Given the description of an element on the screen output the (x, y) to click on. 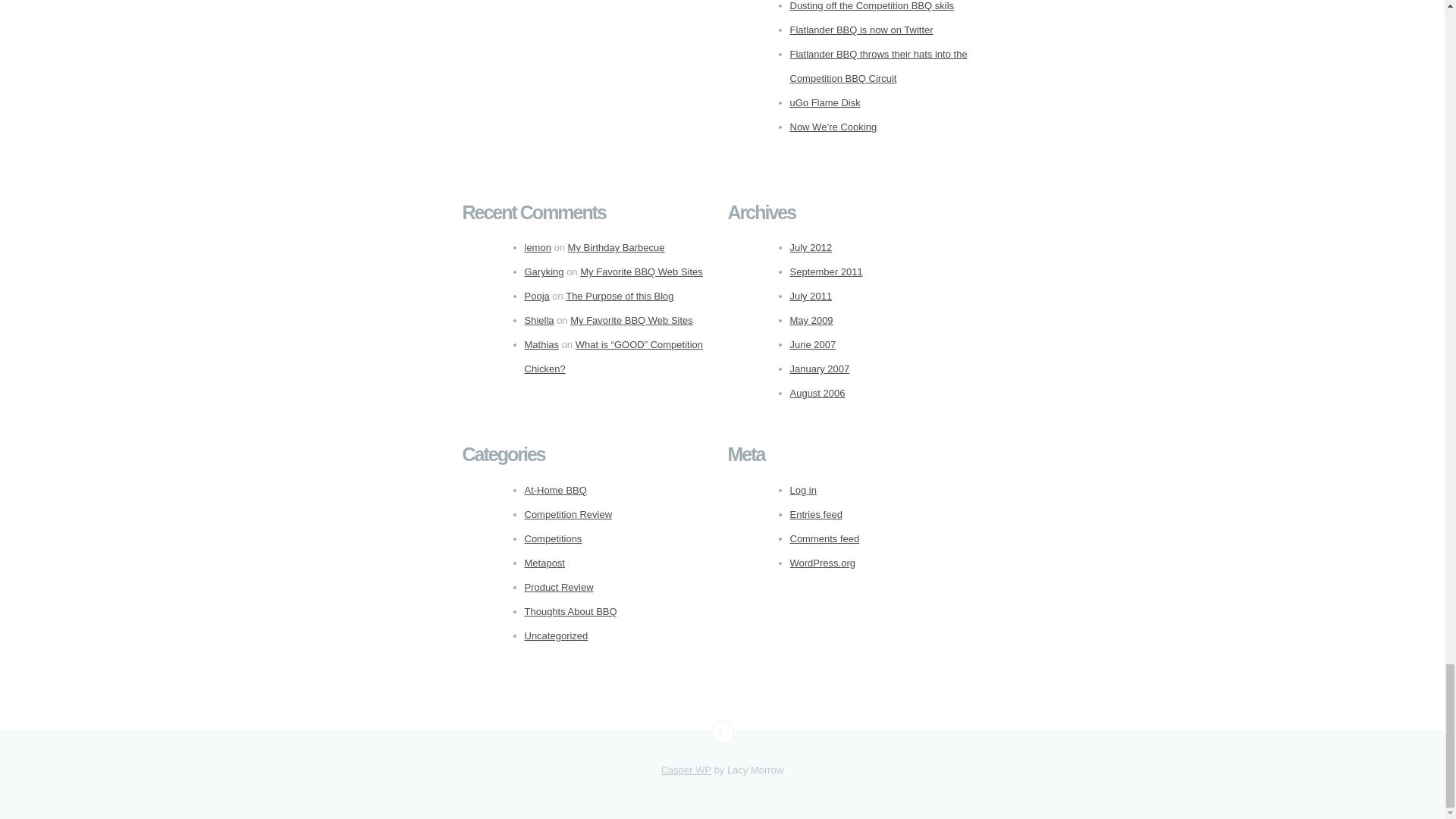
My Birthday Barbecue (616, 247)
My Favorite BBQ Web Sites (641, 271)
Flatlander BBQ is now on Twitter (861, 30)
Pooja (537, 296)
Garyking (544, 271)
The Purpose of this Blog (619, 296)
Shiella (539, 319)
My Favorite BBQ Web Sites (631, 319)
Mathias (541, 344)
